Given the description of an element on the screen output the (x, y) to click on. 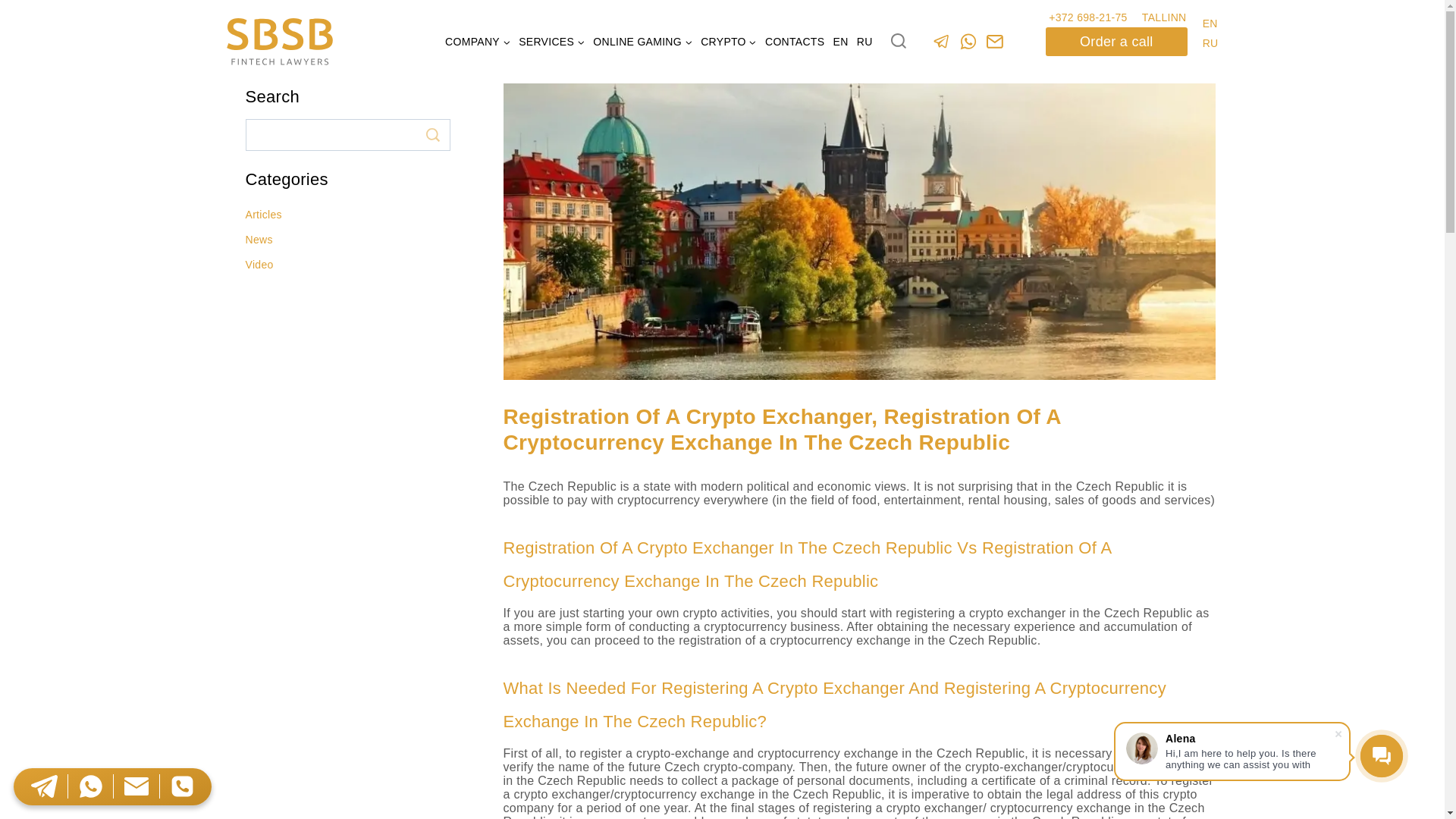
SERVICES (552, 41)
COMPANY (478, 41)
